Given the description of an element on the screen output the (x, y) to click on. 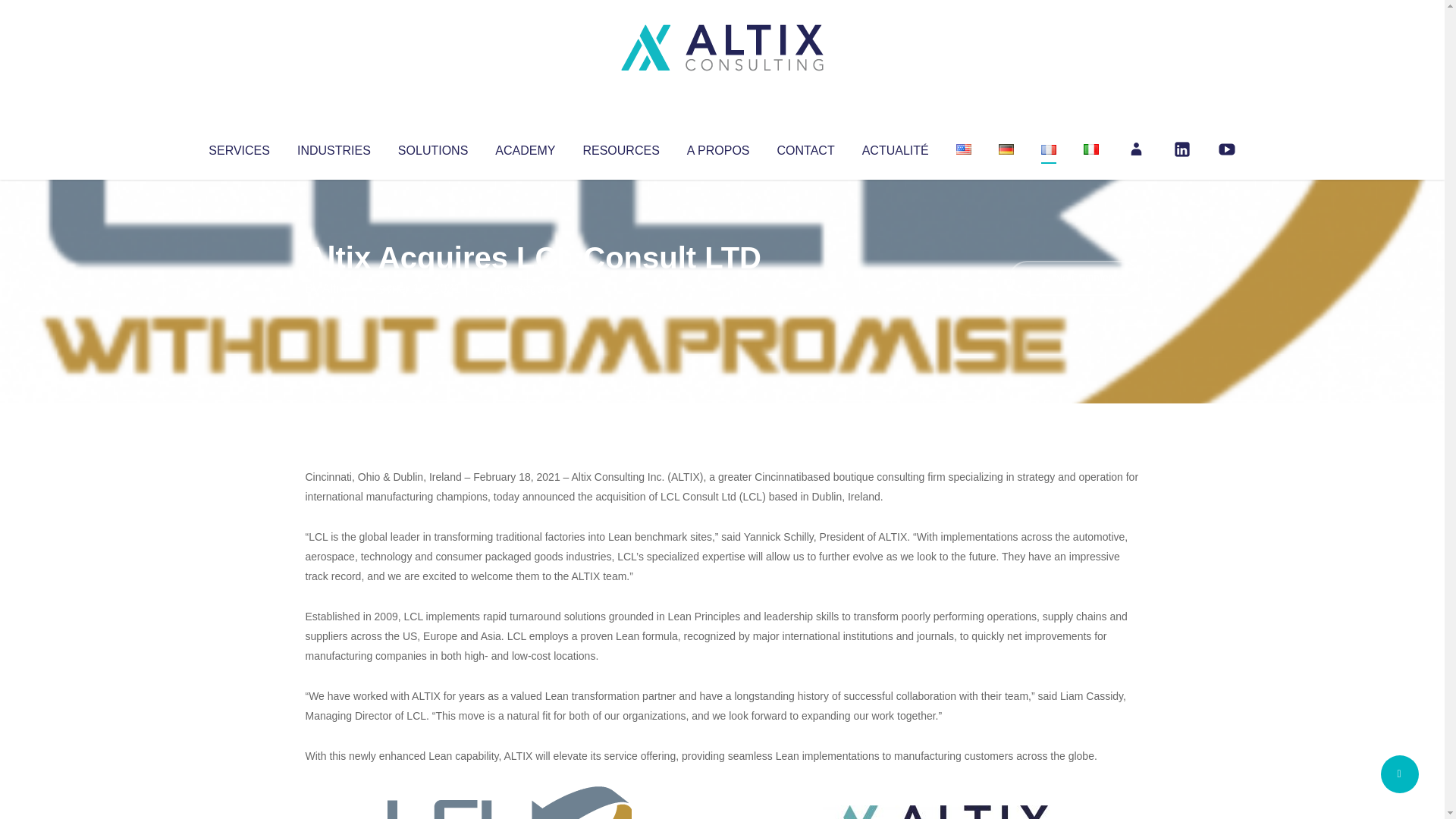
A PROPOS (718, 146)
ACADEMY (524, 146)
SERVICES (238, 146)
SOLUTIONS (432, 146)
RESOURCES (620, 146)
No Comments (1073, 278)
INDUSTRIES (334, 146)
Articles par Altix (333, 287)
Uncategorized (530, 287)
Altix (333, 287)
